Given the description of an element on the screen output the (x, y) to click on. 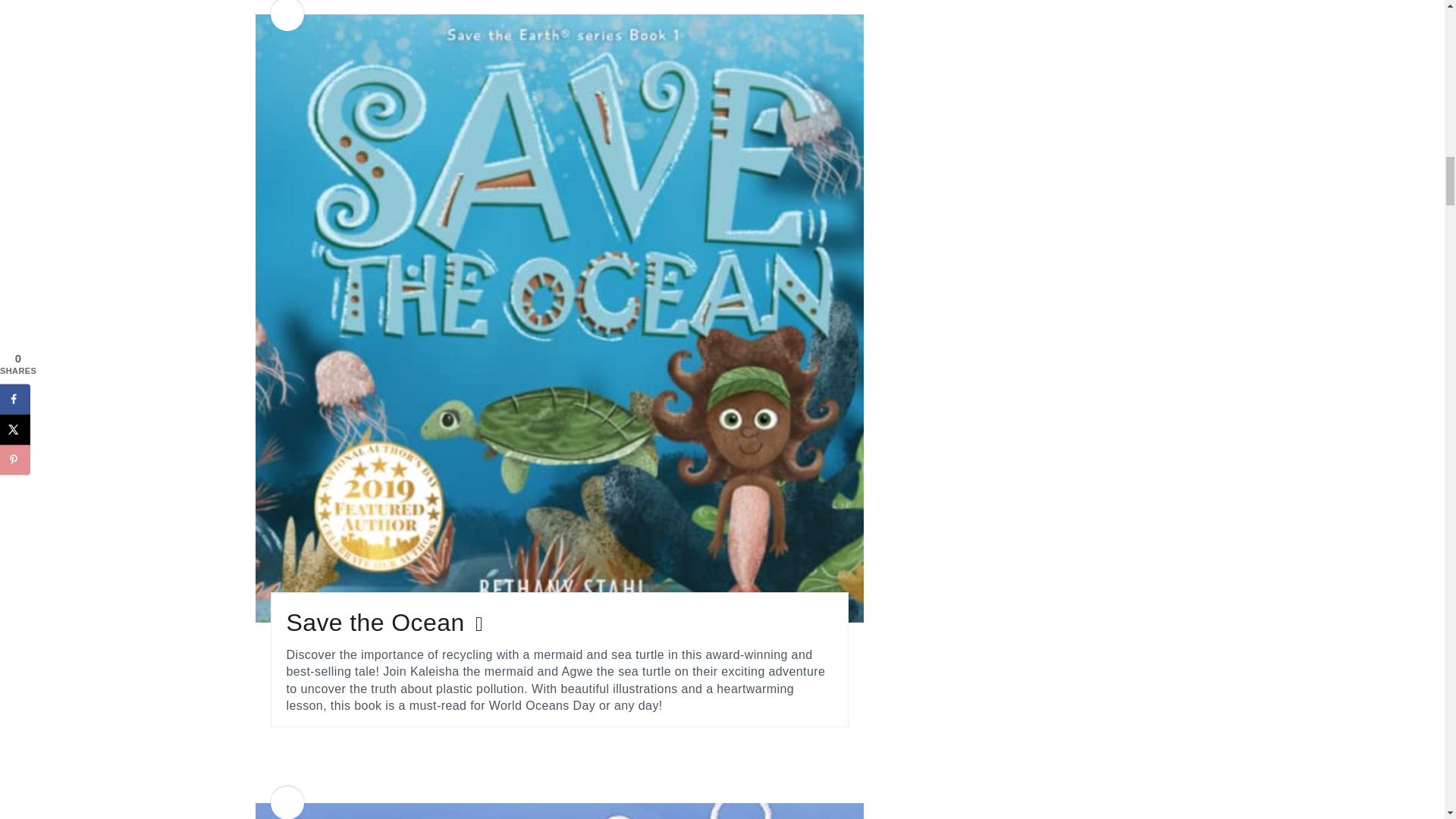
Dive into These Ocean Books for Preschoolers! 3 (558, 811)
Save the Ocean (386, 622)
